Given the description of an element on the screen output the (x, y) to click on. 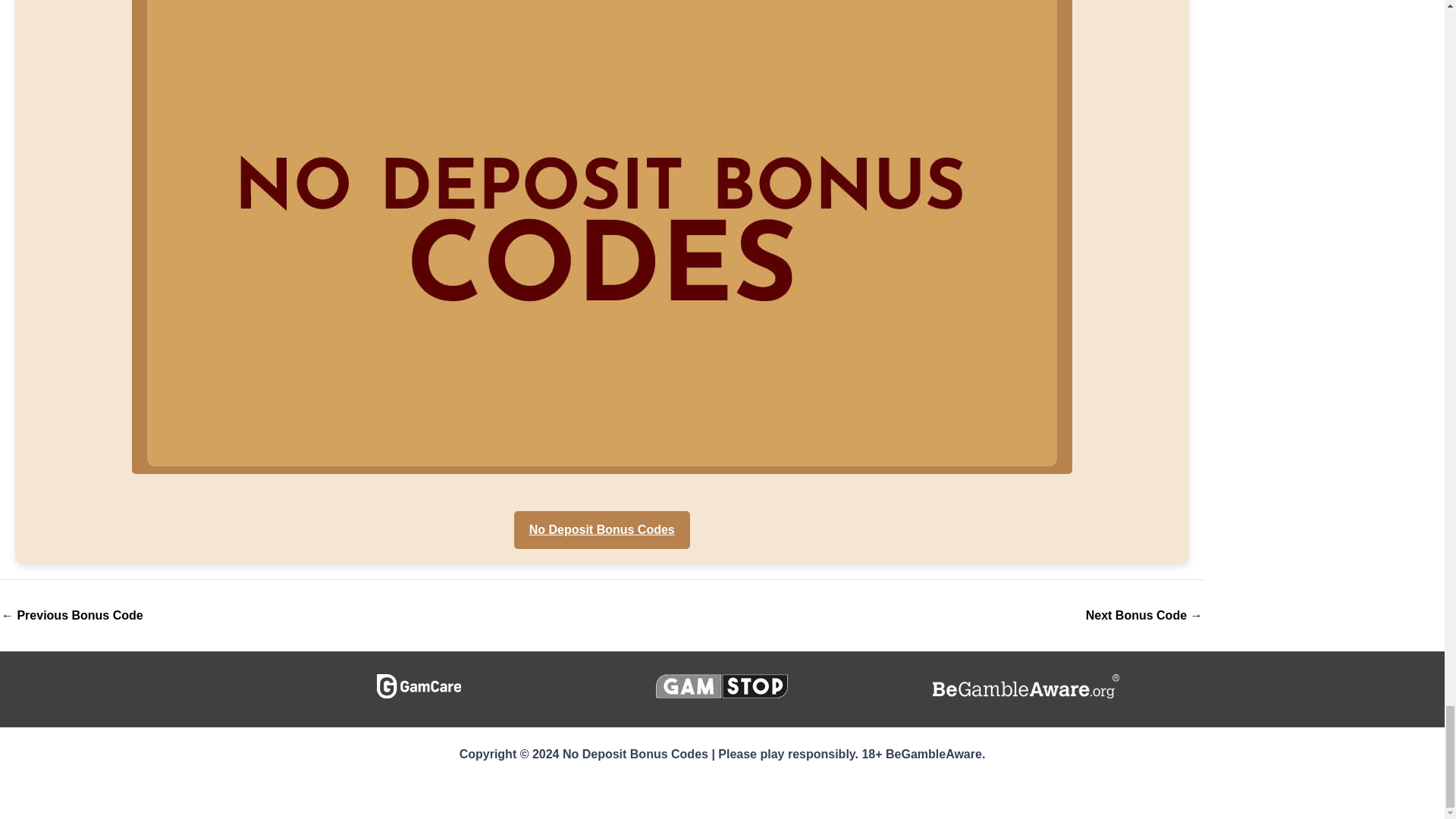
WildSlots Casino (71, 615)
Manga Casino (1144, 615)
